Given the description of an element on the screen output the (x, y) to click on. 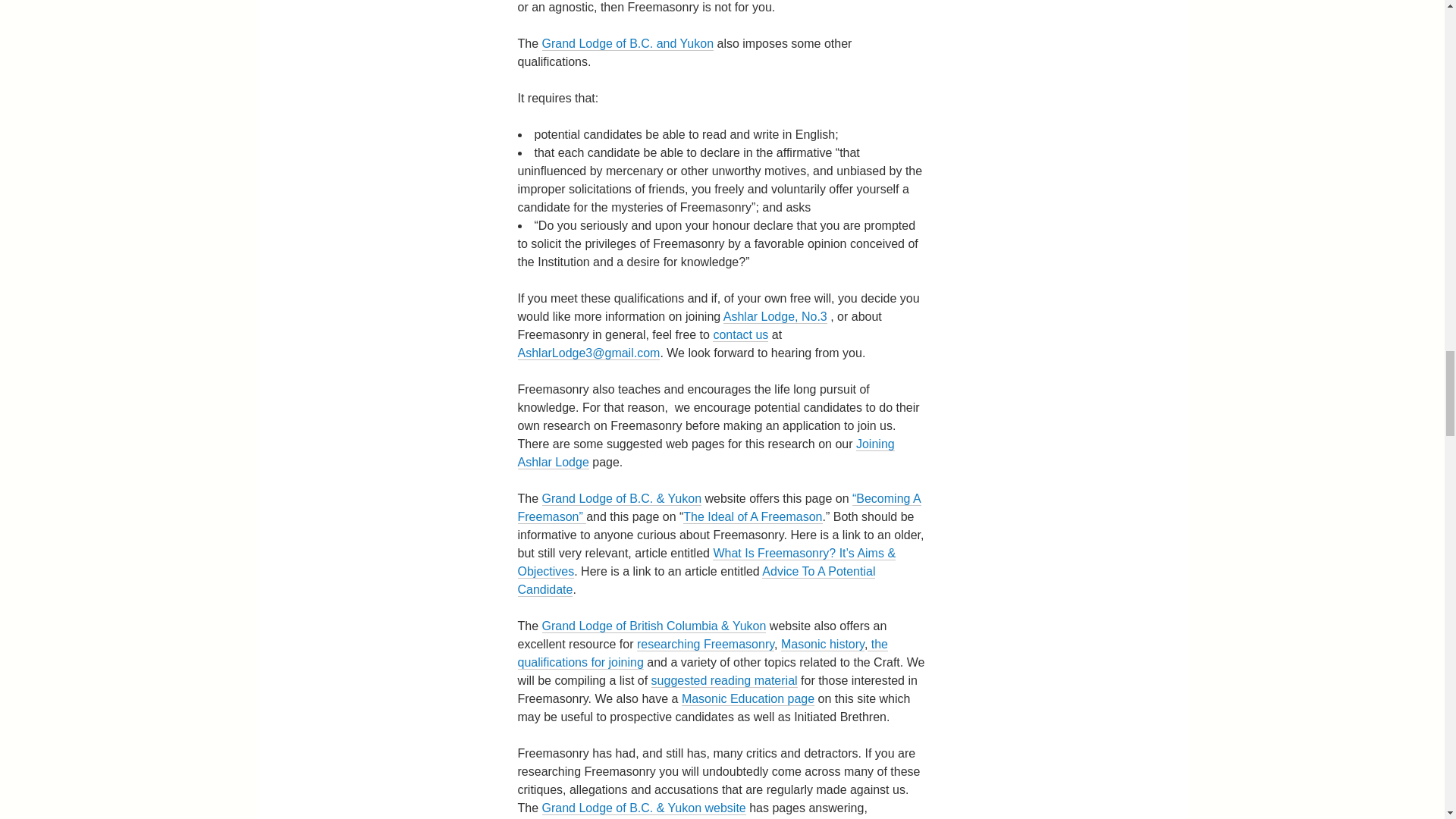
Ashlar Lodge, No.3 (775, 316)
contact us (740, 335)
Grand Lodge of B.C. and Yukon (627, 43)
Joining Ashlar Lodge (704, 453)
